Given the description of an element on the screen output the (x, y) to click on. 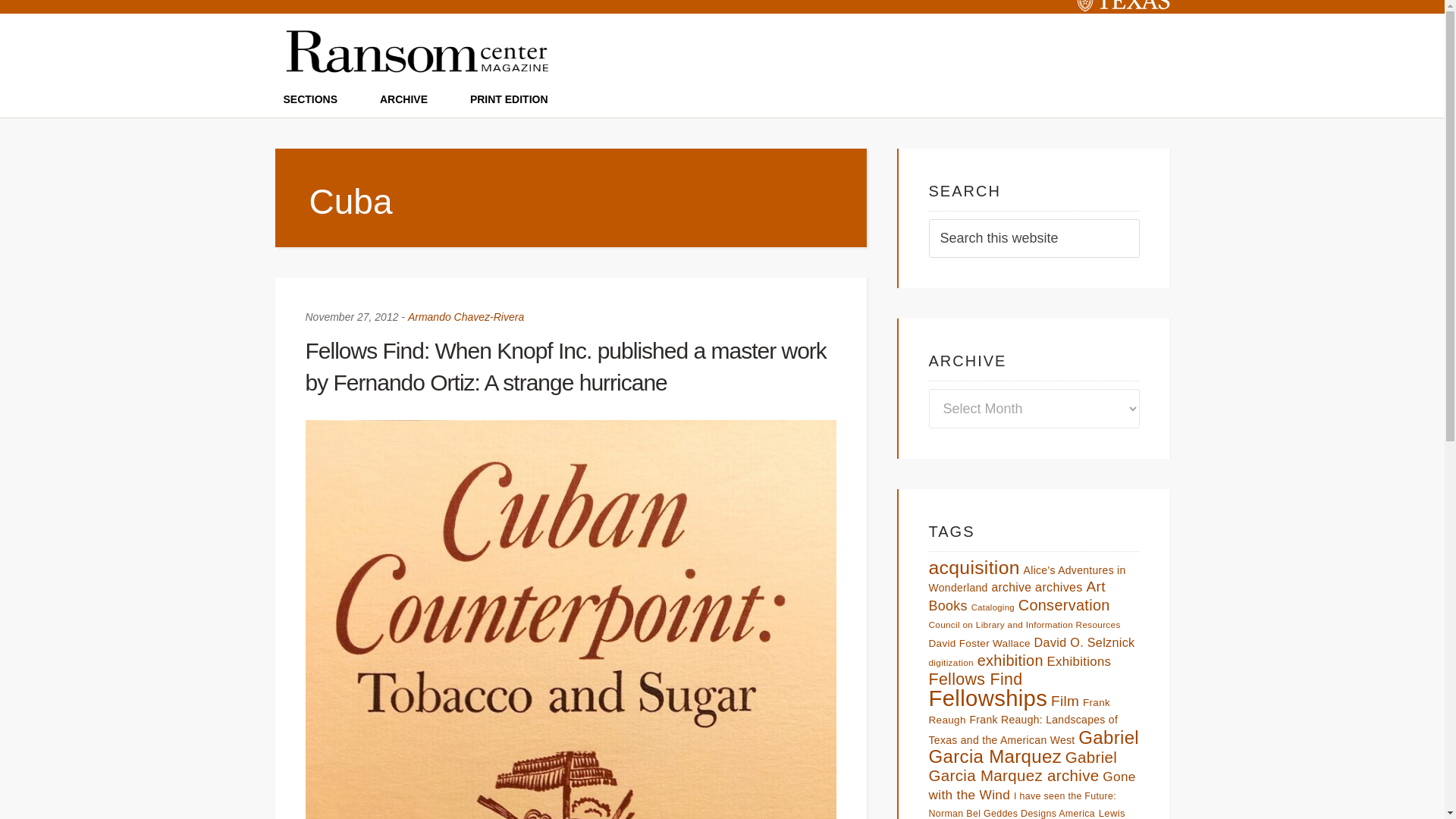
HARRY RANSOM CENTER (60, 0)
acquisition (973, 567)
PRINT EDITION (509, 99)
Armando Chavez-Rivera (465, 316)
ARCHIVE (403, 99)
SECTIONS (311, 99)
